Given the description of an element on the screen output the (x, y) to click on. 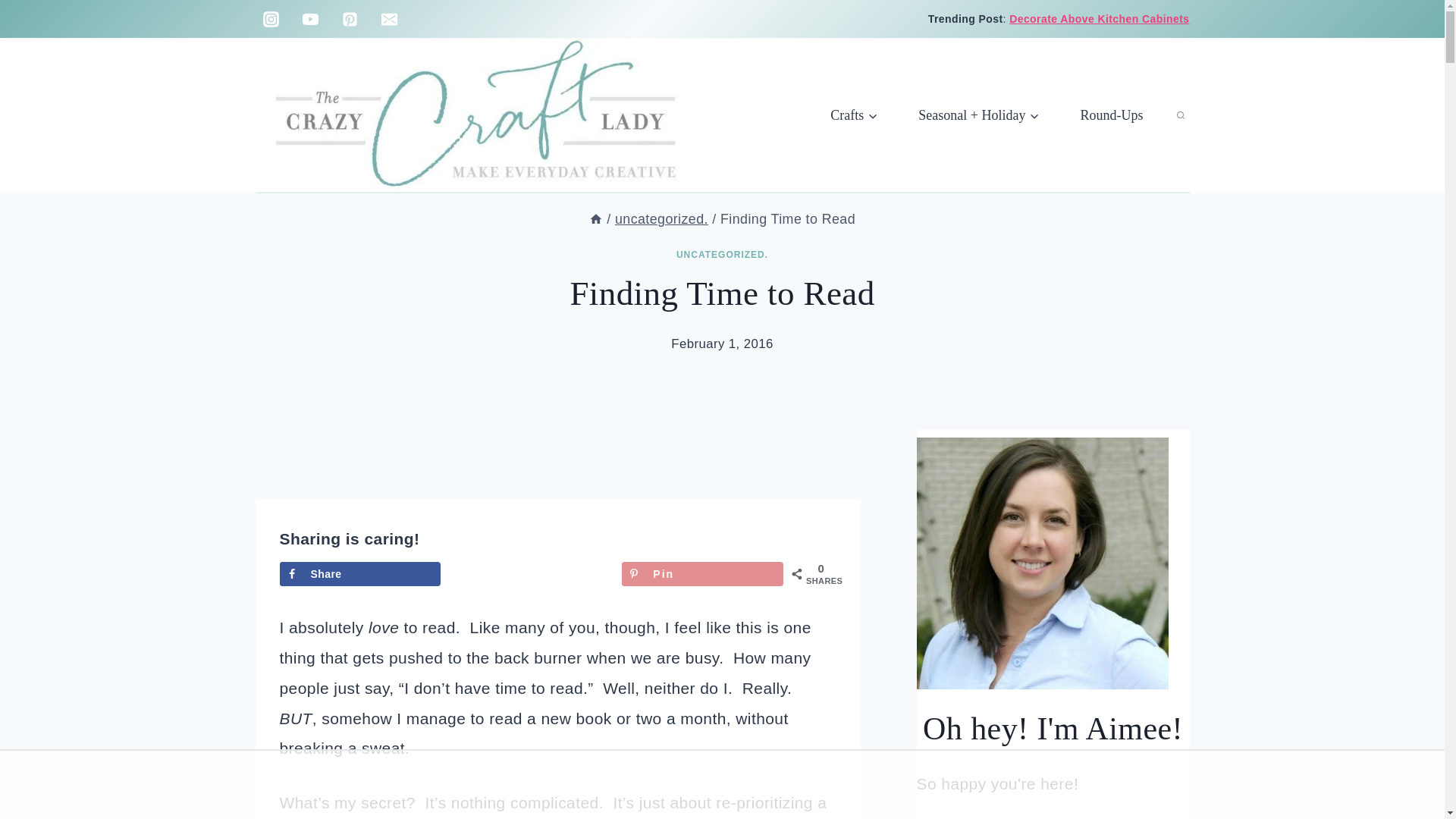
UNCATEGORIZED. (722, 254)
Send over email (530, 573)
Share on Facebook (360, 573)
Round-Ups (1111, 114)
uncategorized. (660, 218)
Save to Pinterest (702, 573)
Home (595, 218)
Pin (702, 573)
Decorate Above Kitchen Cabinets (1099, 19)
